Given the description of an element on the screen output the (x, y) to click on. 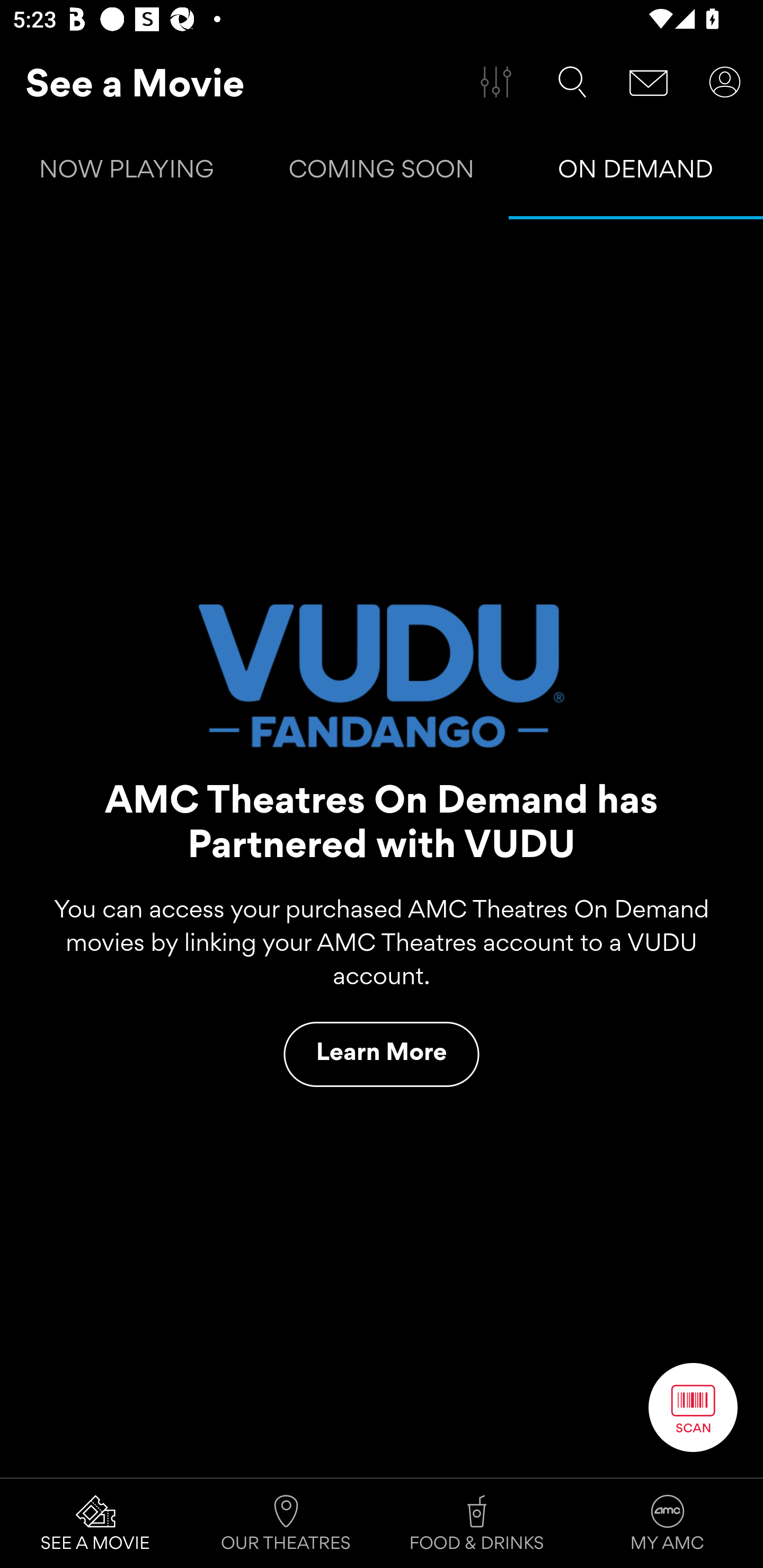
Search (572, 82)
Message Center (648, 82)
User Account (724, 82)
NOW PLAYING
Tab 1 of 3 (127, 173)
COMING SOON
Tab 2 of 3 (381, 173)
ON DEMAND
Tab 3 of 3 (635, 173)
Learn More (381, 1054)
Scan Button (692, 1406)
SEE A MOVIE
Tab 1 of 4 (95, 1523)
OUR THEATRES
Tab 2 of 4 (285, 1523)
FOOD & DRINKS
Tab 3 of 4 (476, 1523)
MY AMC
Tab 4 of 4 (667, 1523)
